Given the description of an element on the screen output the (x, y) to click on. 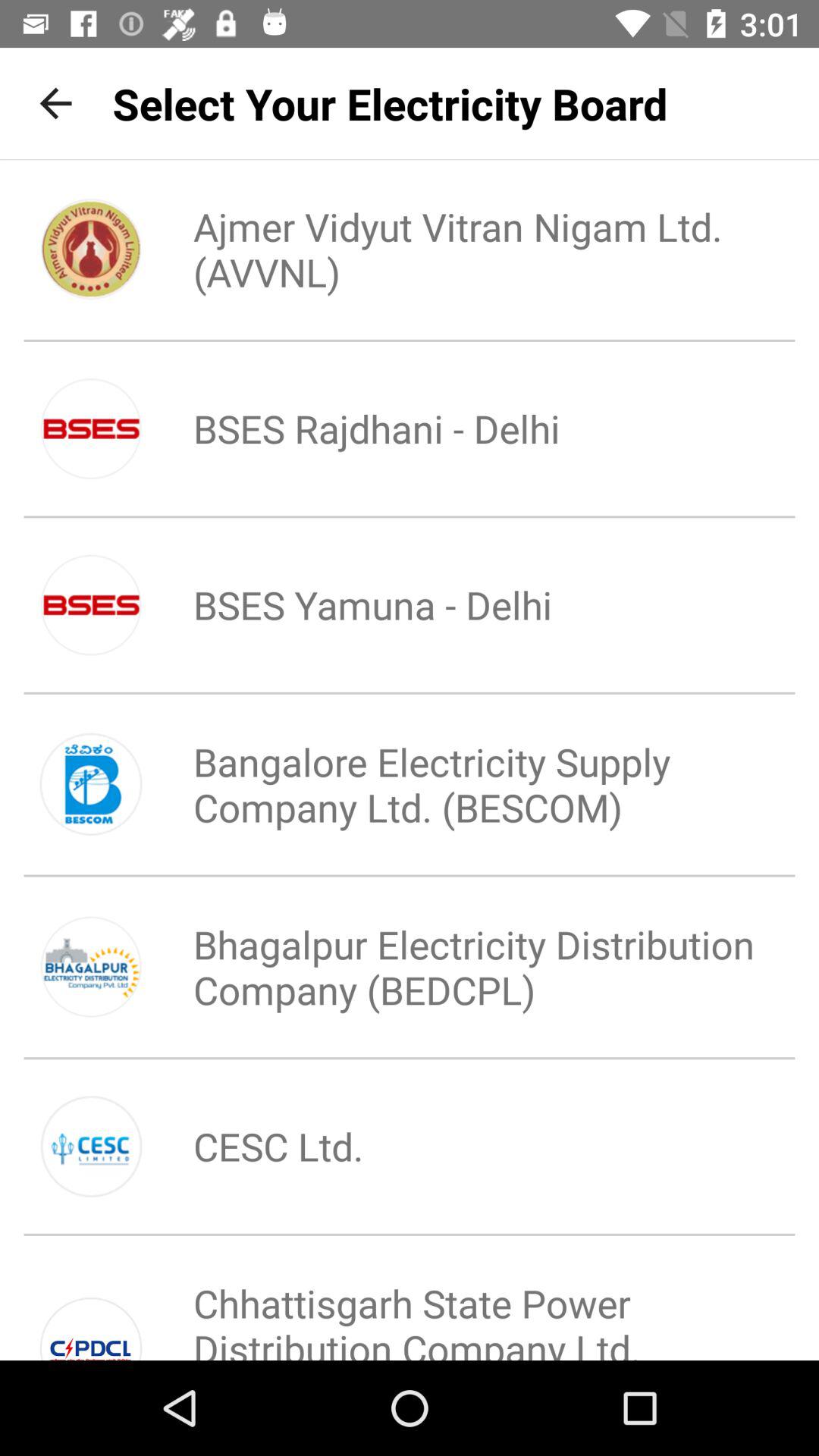
open the item above the bses rajdhani - delhi icon (460, 249)
